Given the description of an element on the screen output the (x, y) to click on. 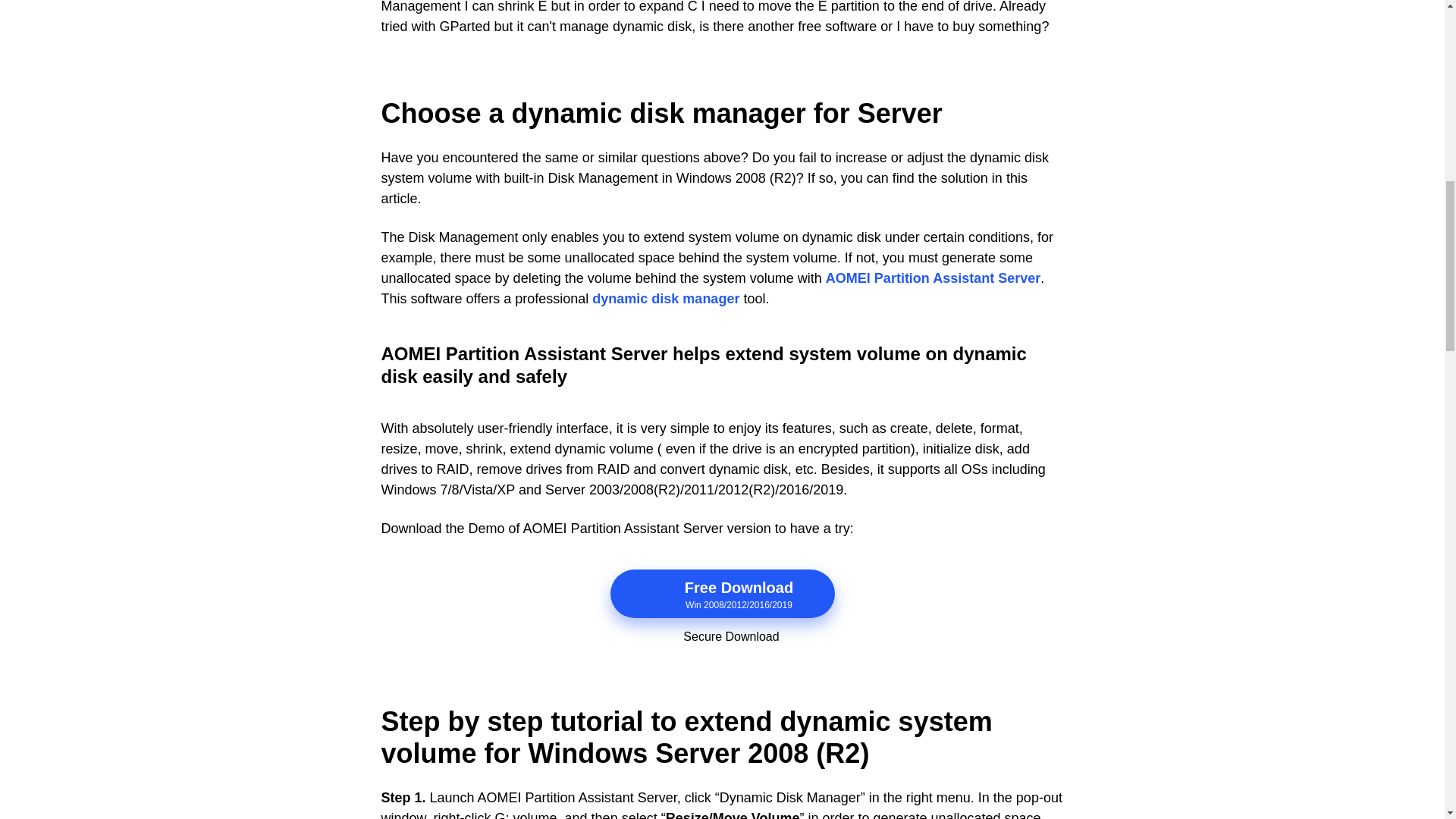
AOMEI Partition Assistant Server (933, 278)
dynamic disk manager (665, 299)
